Given the description of an element on the screen output the (x, y) to click on. 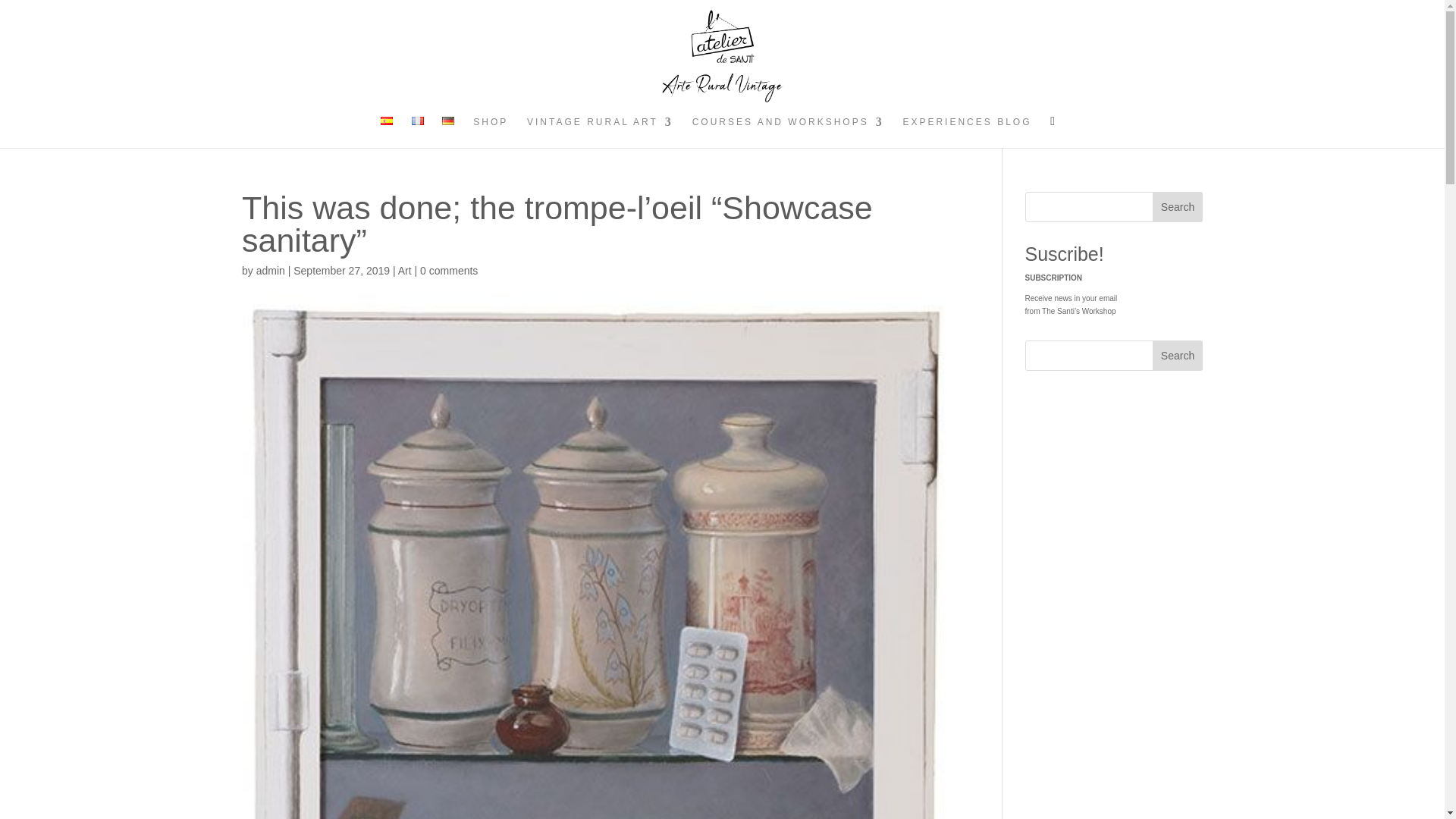
SHOP (490, 132)
COURSES AND WORKSHOPS (788, 132)
Search (1177, 206)
admin (270, 270)
Search (1177, 355)
Posts by admin (270, 270)
VINTAGE RURAL ART (599, 132)
EXPERIENCES BLOG (966, 132)
Search (1177, 206)
Search (1177, 355)
